Given the description of an element on the screen output the (x, y) to click on. 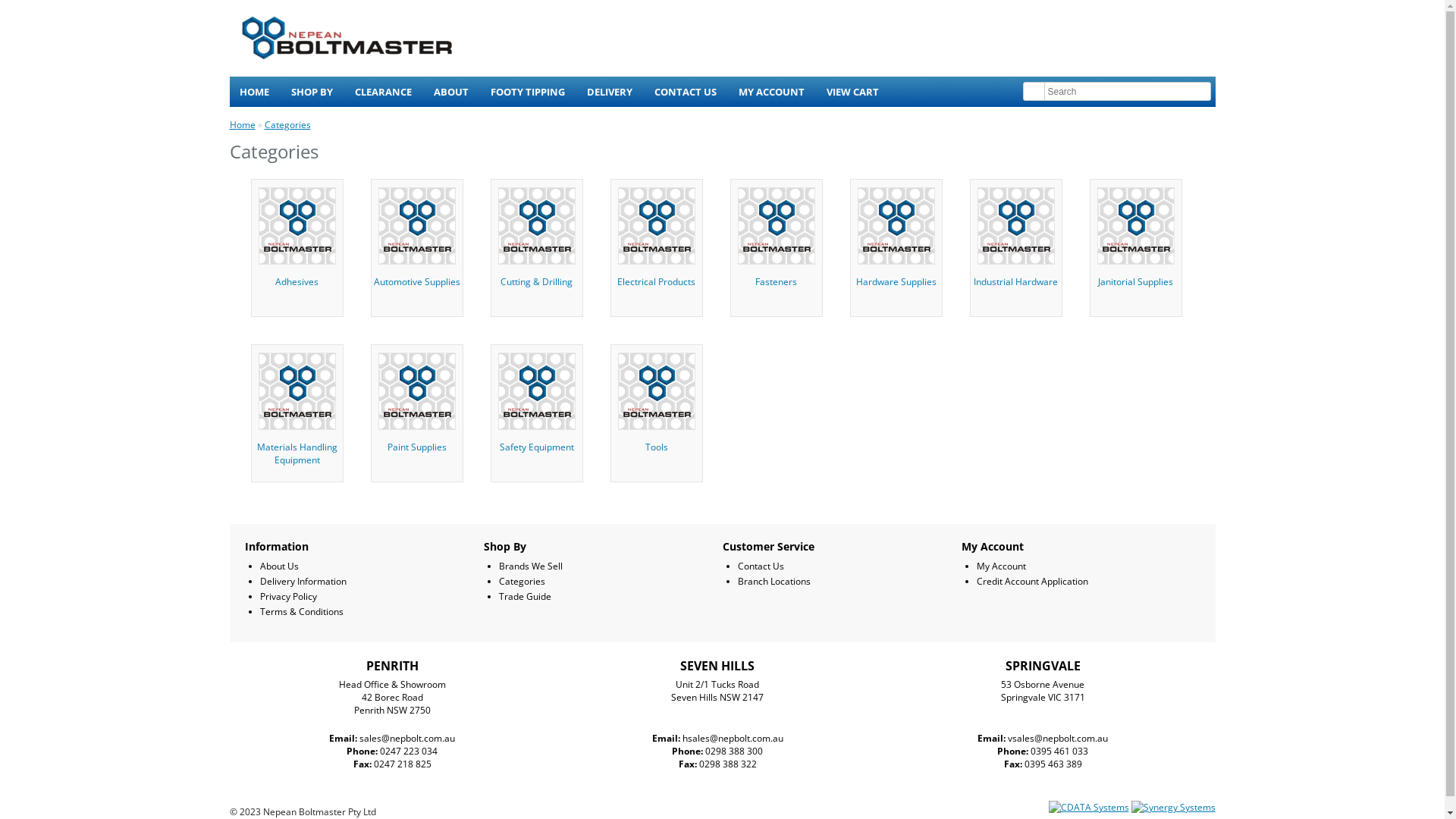
Industrial Hardware Element type: text (1015, 242)
Cutting & Drilling Element type: hover (535, 225)
Cutting & Drilling Element type: text (536, 242)
SHOP BY Element type: text (311, 91)
Automotive Supplies Element type: text (416, 242)
JANITORIAL SUPPLIES Element type: hover (1134, 225)
VIEW CART Element type: text (851, 91)
ELECTRICAL PRODUCTS Element type: hover (655, 225)
Safety Equipment Element type: text (536, 407)
About Us Element type: text (278, 565)
SAFETY EQUIPMENT Element type: hover (535, 390)
Home Element type: text (241, 124)
DELIVERY Element type: text (608, 91)
Electrical Products Element type: text (656, 242)
Tools Element type: text (656, 407)
CONTACT US Element type: text (685, 91)
Categories Element type: text (286, 124)
PAINT SUPPLIES Element type: hover (416, 390)
Materials Handling Equipment Element type: text (296, 407)
AUTOMOTIVE SUPPLIES Element type: hover (416, 225)
Synergy Systems Element type: hover (1173, 806)
INDUSTRIAL HARDWARE Element type: hover (1015, 225)
Contact Us Element type: text (760, 565)
My Account Element type: text (1001, 565)
TOOLS Element type: hover (655, 390)
Adhesives Element type: text (296, 242)
HARDWARE SUPPLIES Element type: hover (895, 225)
Janitorial Supplies Element type: text (1135, 242)
Branch Locations Element type: text (773, 580)
ADHESIVES Element type: hover (296, 225)
CDATA Systems Element type: hover (1088, 806)
Terms & Conditions Element type: text (300, 611)
Hardware Supplies Element type: text (895, 242)
Brands We Sell Element type: text (530, 565)
Credit Account Application Element type: text (1032, 580)
Paint Supplies Element type: text (416, 407)
Categories Element type: text (521, 580)
ABOUT Element type: text (450, 91)
Privacy Policy Element type: text (287, 595)
FOOTY TIPPING Element type: text (527, 91)
Trade Guide Element type: text (524, 595)
FASTENERS Element type: hover (775, 225)
CLEARANCE Element type: text (382, 91)
Delivery Information Element type: text (302, 580)
MY ACCOUNT Element type: text (770, 91)
Fasteners Element type: text (776, 242)
MATERIALS HANDLING EQUIPMENT Element type: hover (296, 390)
HOME Element type: text (253, 91)
Nepean Boltmaster Element type: hover (347, 37)
